Given the description of an element on the screen output the (x, y) to click on. 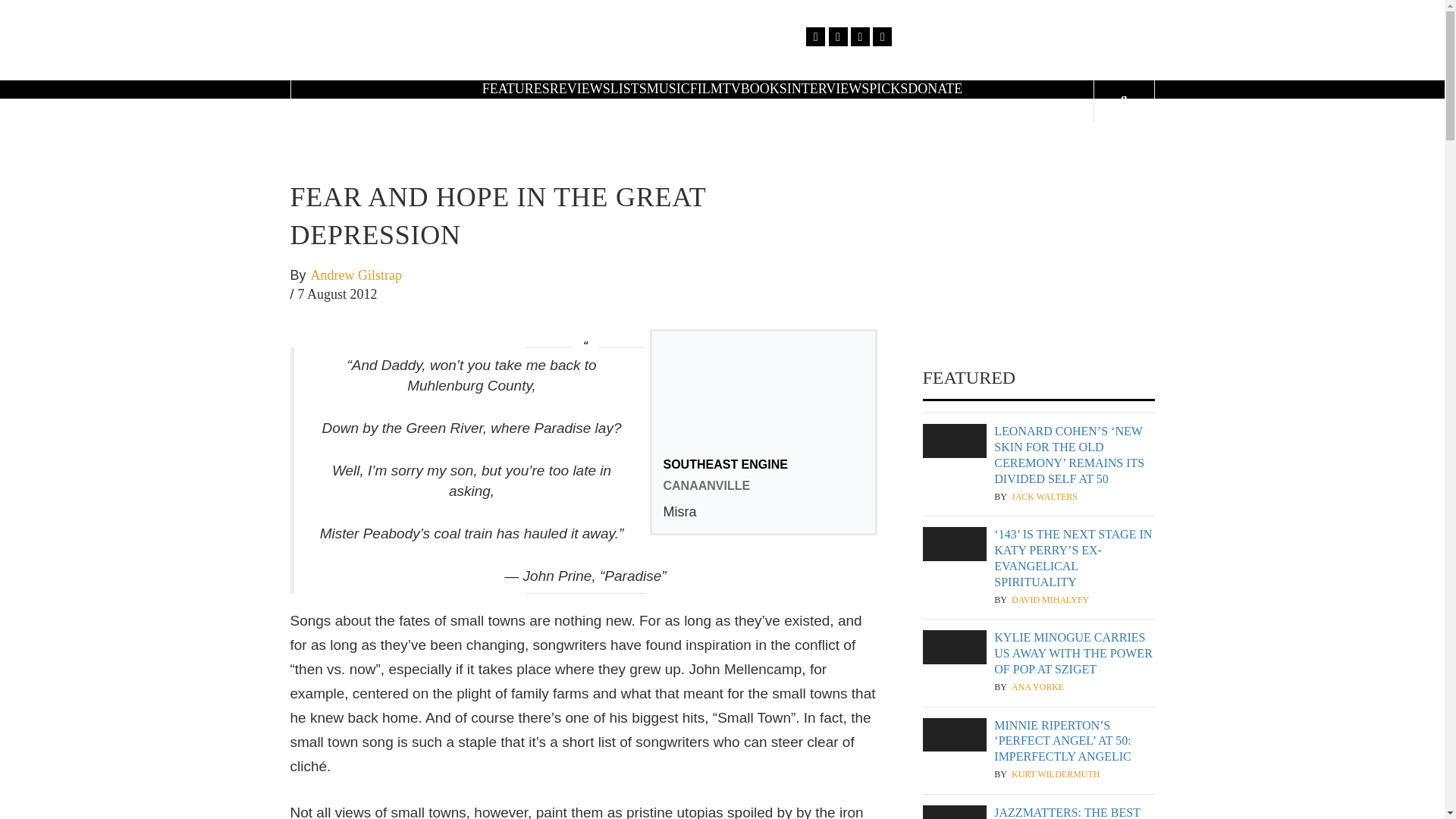
Andrew Gilstrap (356, 275)
LISTS (628, 88)
Andrew Gilstrap (356, 275)
JACK WALTERS (1044, 496)
Instagram (859, 36)
POPMATTERS (903, 45)
MUSIC (668, 88)
Spotify (881, 36)
DONATE (934, 88)
Kurt Wildermuth (1055, 774)
